Given the description of an element on the screen output the (x, y) to click on. 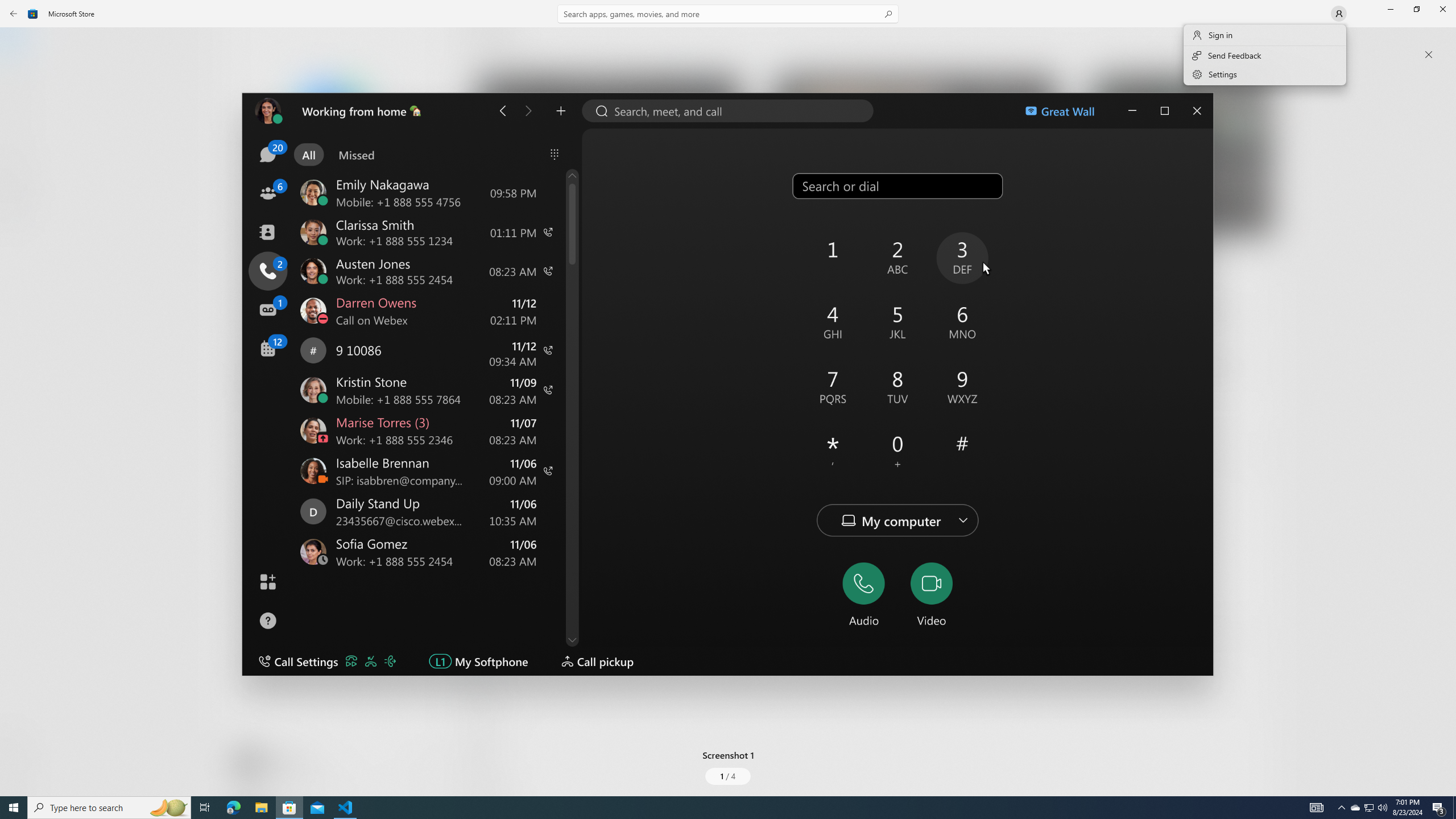
No, this was not helpful. 23 votes. (1219, 636)
Sign in to review (501, 556)
Show all ratings and reviews (1253, 458)
Screenshot 1 (727, 403)
See all (1253, 41)
Age rating: EVERYONE. Click for more information. (287, 762)
AutomationID: NavigationControl (728, 398)
Screenshot 3 (1176, 158)
Share (424, 769)
